Given the description of an element on the screen output the (x, y) to click on. 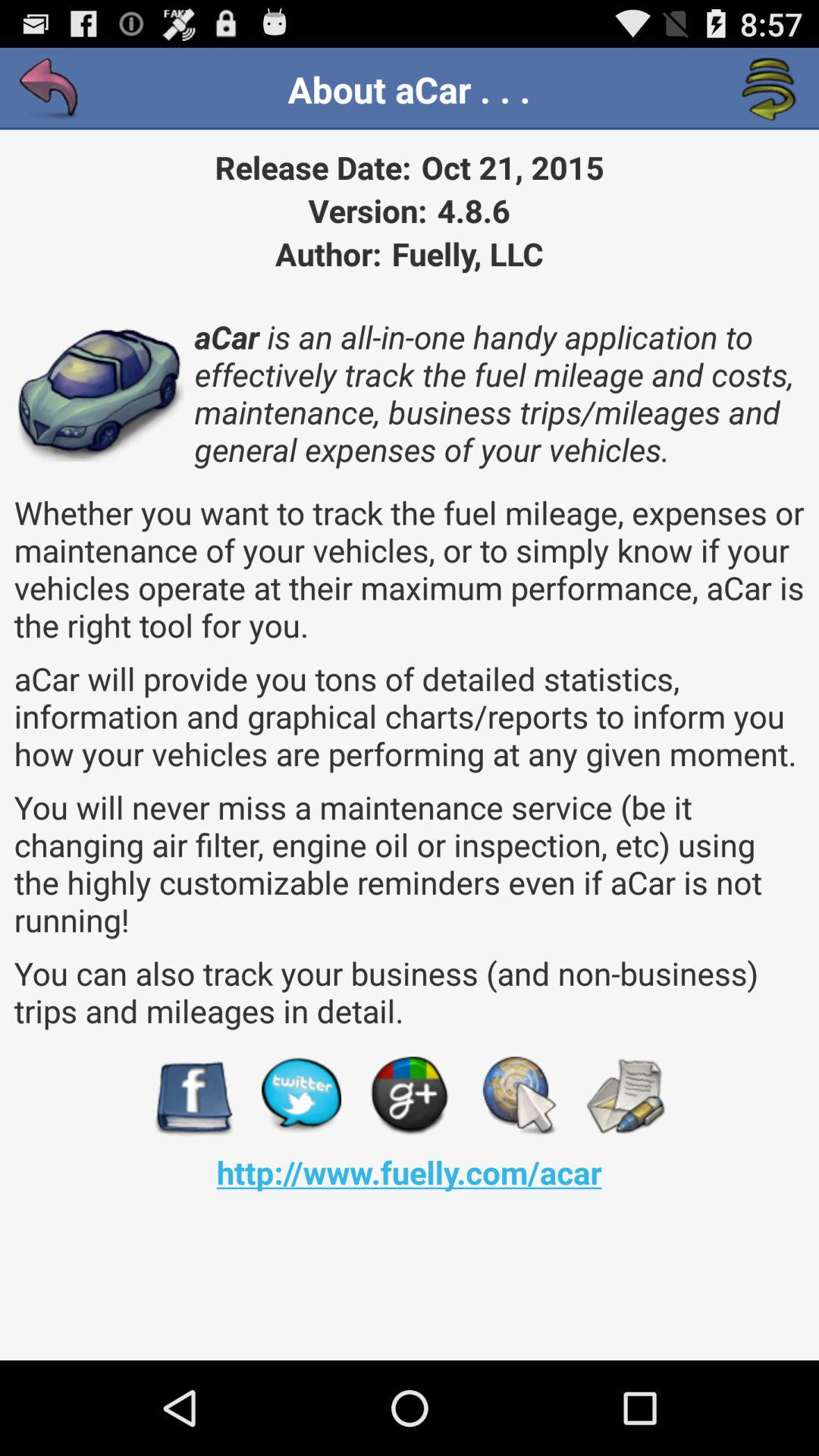
click app above http www fuelly app (517, 1096)
